Given the description of an element on the screen output the (x, y) to click on. 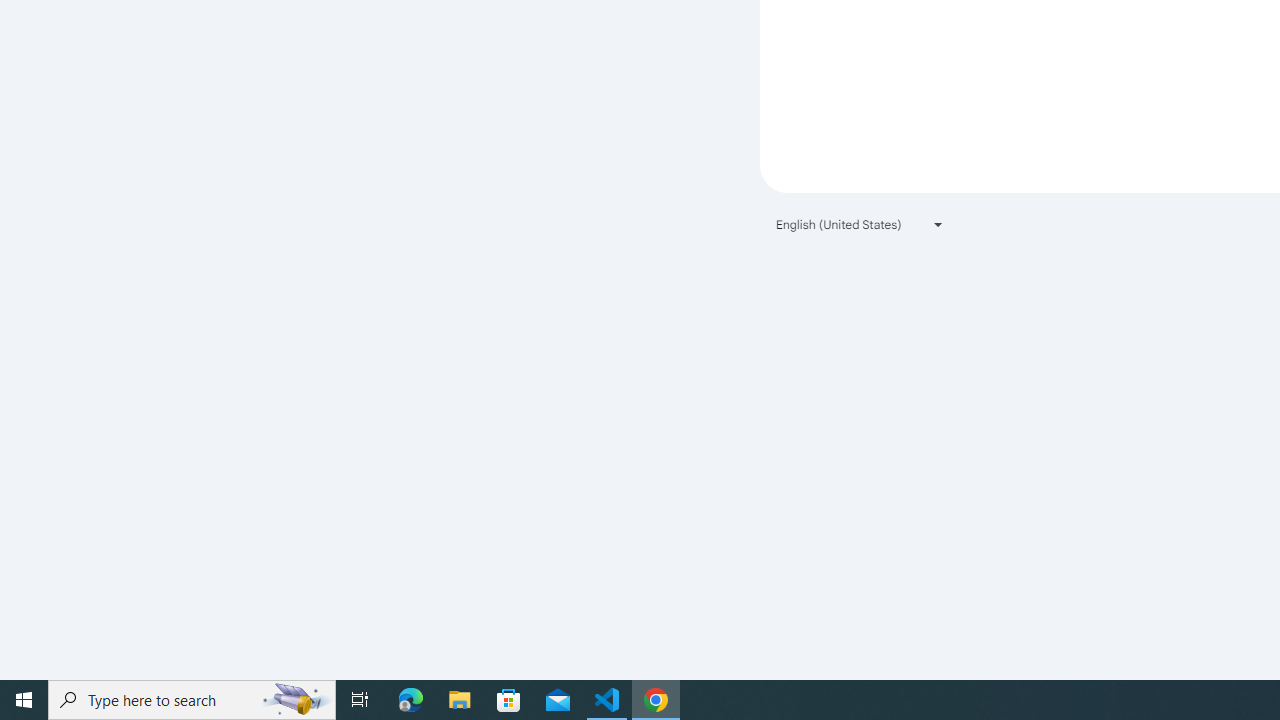
English (United States) (860, 224)
